Given the description of an element on the screen output the (x, y) to click on. 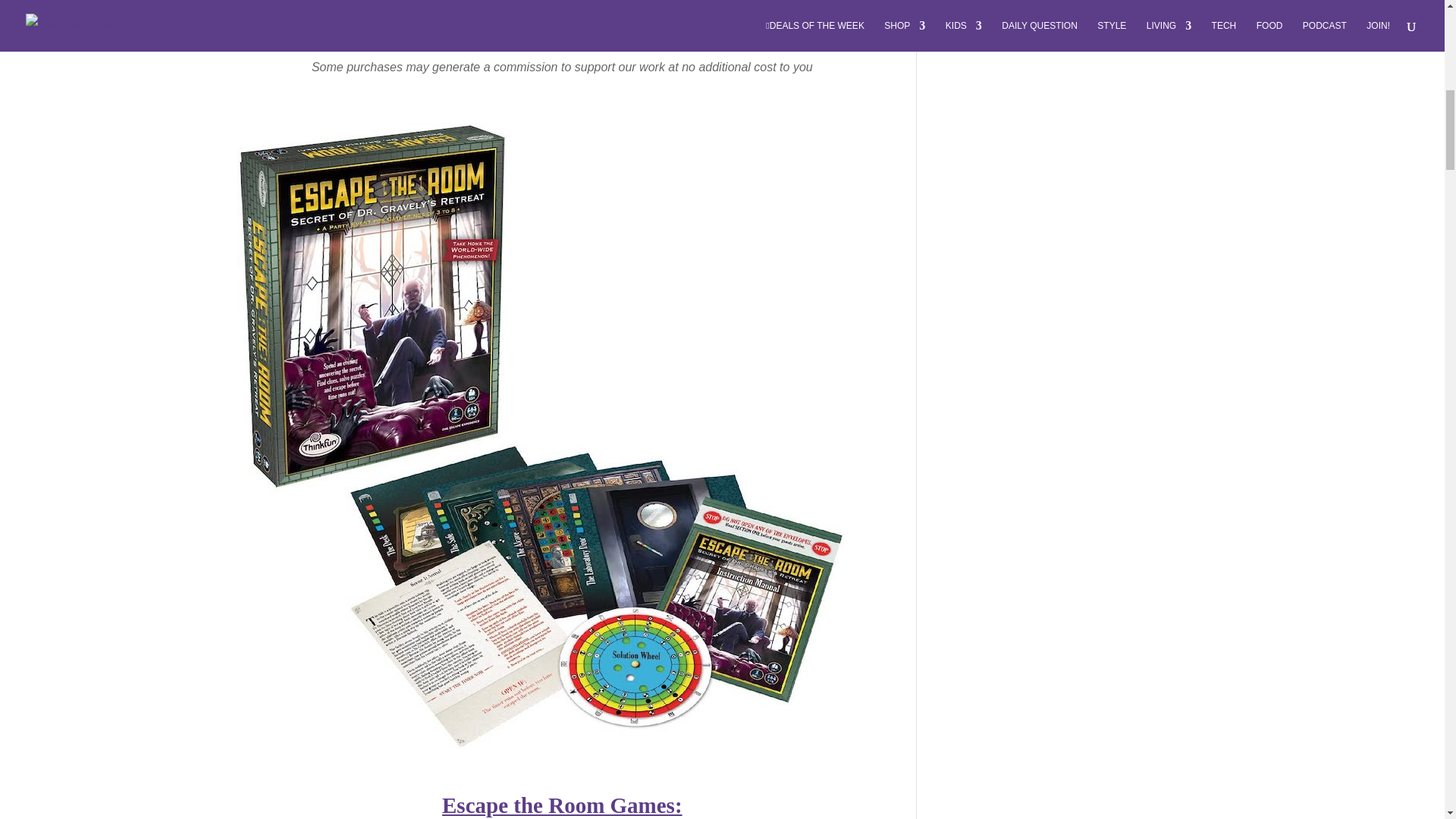
Escape the Room: Mystery at the Stargazer's Manor (562, 805)
